Given the description of an element on the screen output the (x, y) to click on. 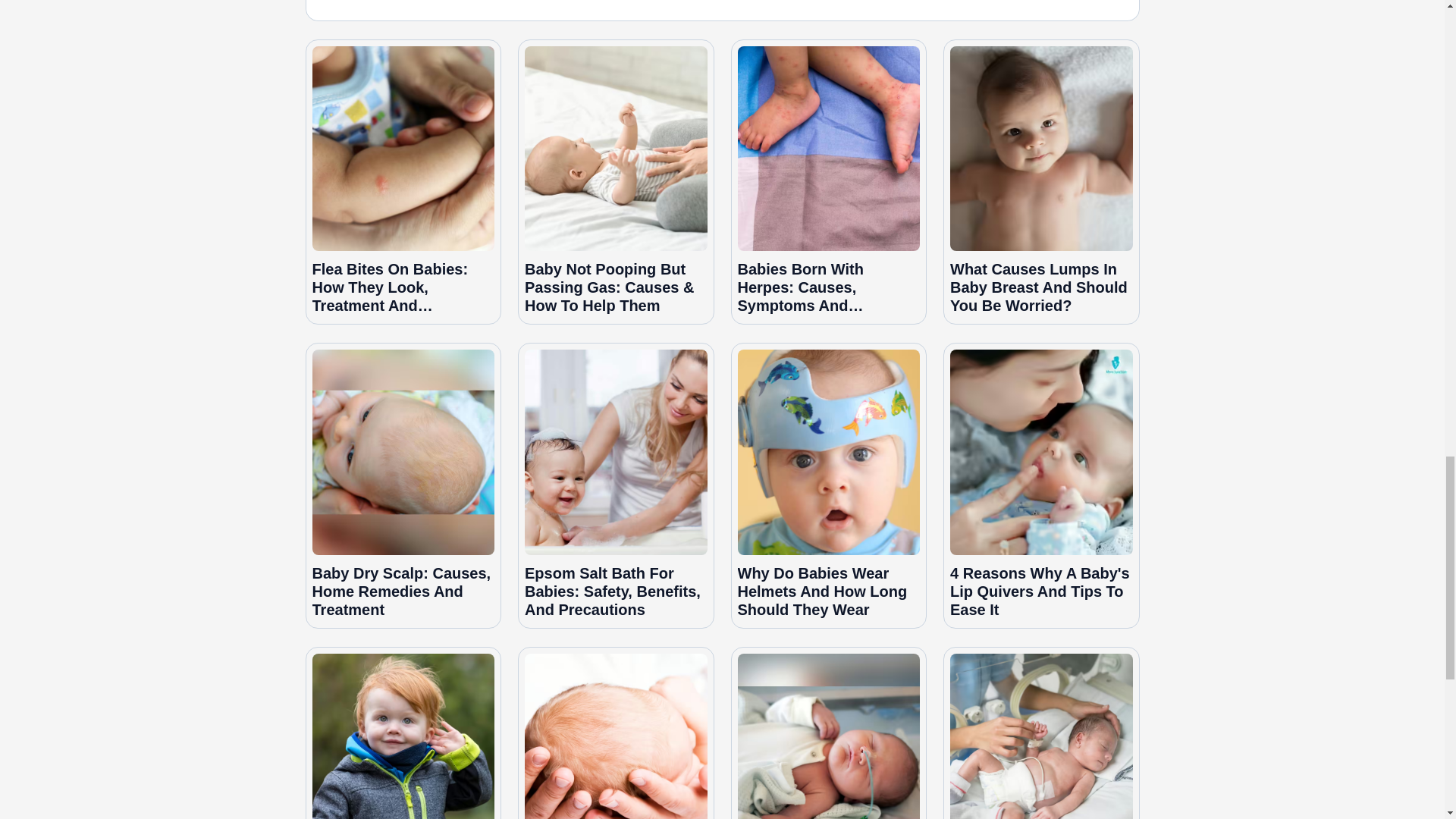
4 Reasons Why A Baby's Lip Quivers And Tips To Ease It (1041, 452)
Why Do Babies Wear Helmets And How Long Should They Wear (828, 452)
What Causes Lumps In Baby Breast And Should You Be Worried? (1041, 148)
Infant Feeding Tube: Uses, Types, Procedure And Risks (828, 736)
Babies Born With Herpes: Causes, Symptoms And Prevention (828, 148)
